Given the description of an element on the screen output the (x, y) to click on. 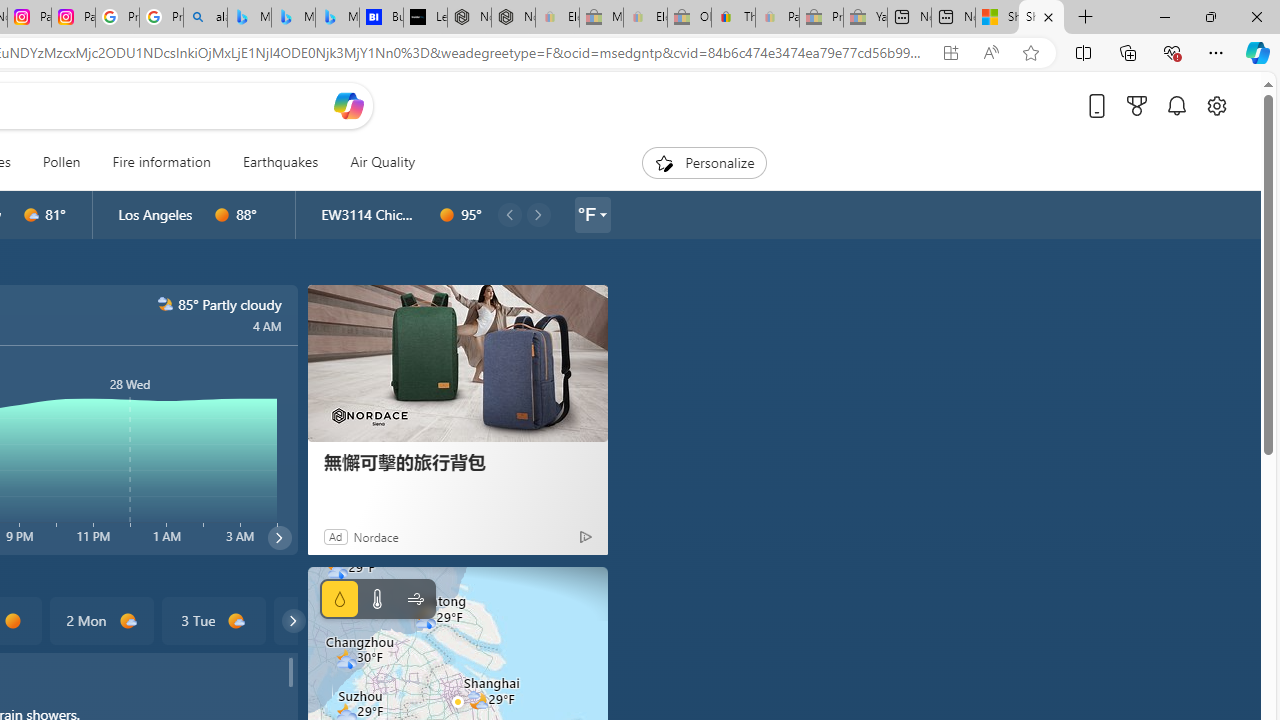
Microsoft Bing Travel - Flights from Hong Kong to Bangkok (249, 17)
n2000 (164, 303)
Fire information (161, 162)
Precipitation (339, 599)
Open settings (1216, 105)
Yard, Garden & Outdoor Living - Sleeping (865, 17)
Microsoft Bing Travel - Shangri-La Hotel Bangkok (337, 17)
Pollen (61, 162)
